Given the description of an element on the screen output the (x, y) to click on. 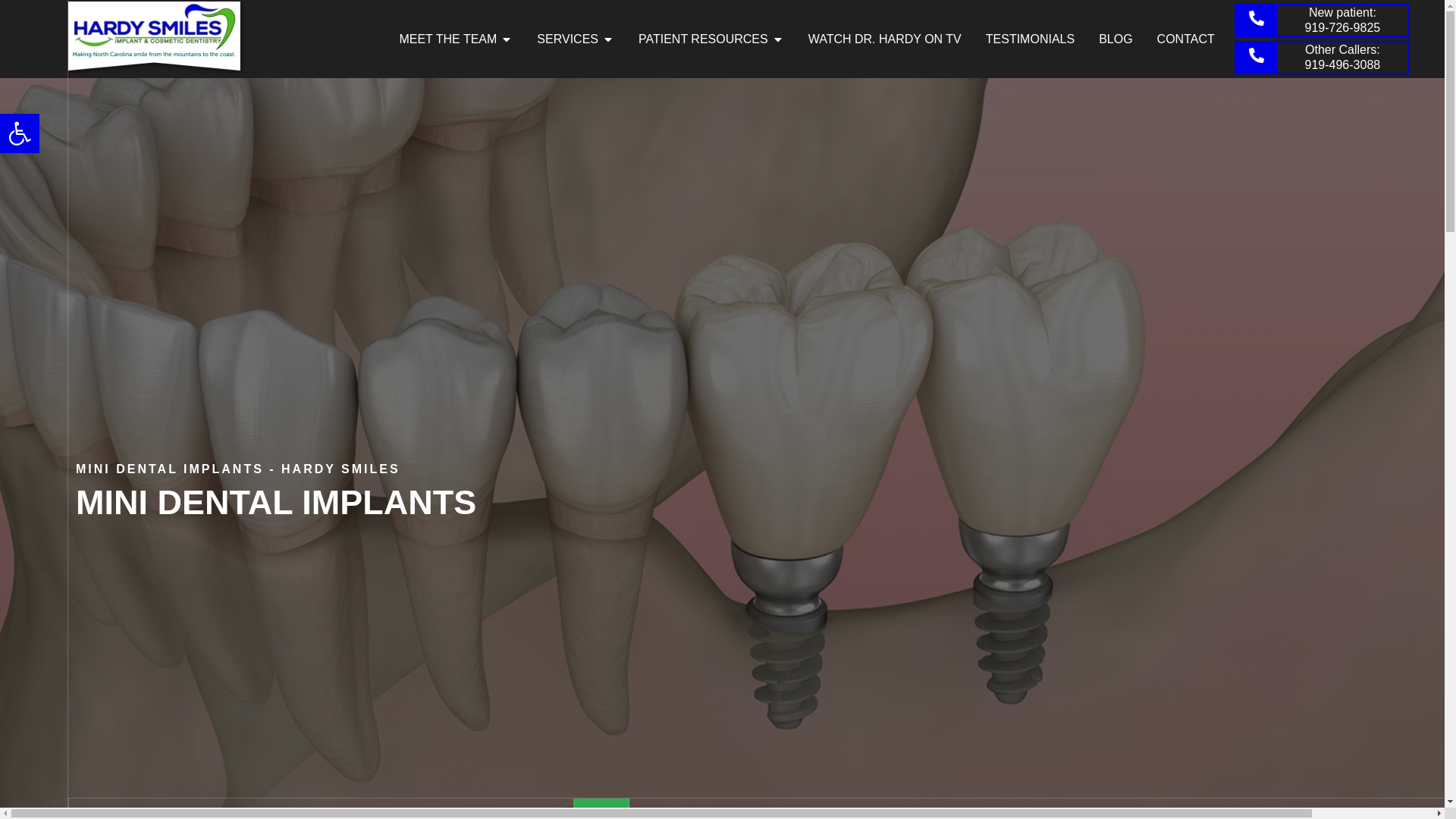
Accessibility Tools (19, 133)
Accessibility Tools (19, 133)
